Given the description of an element on the screen output the (x, y) to click on. 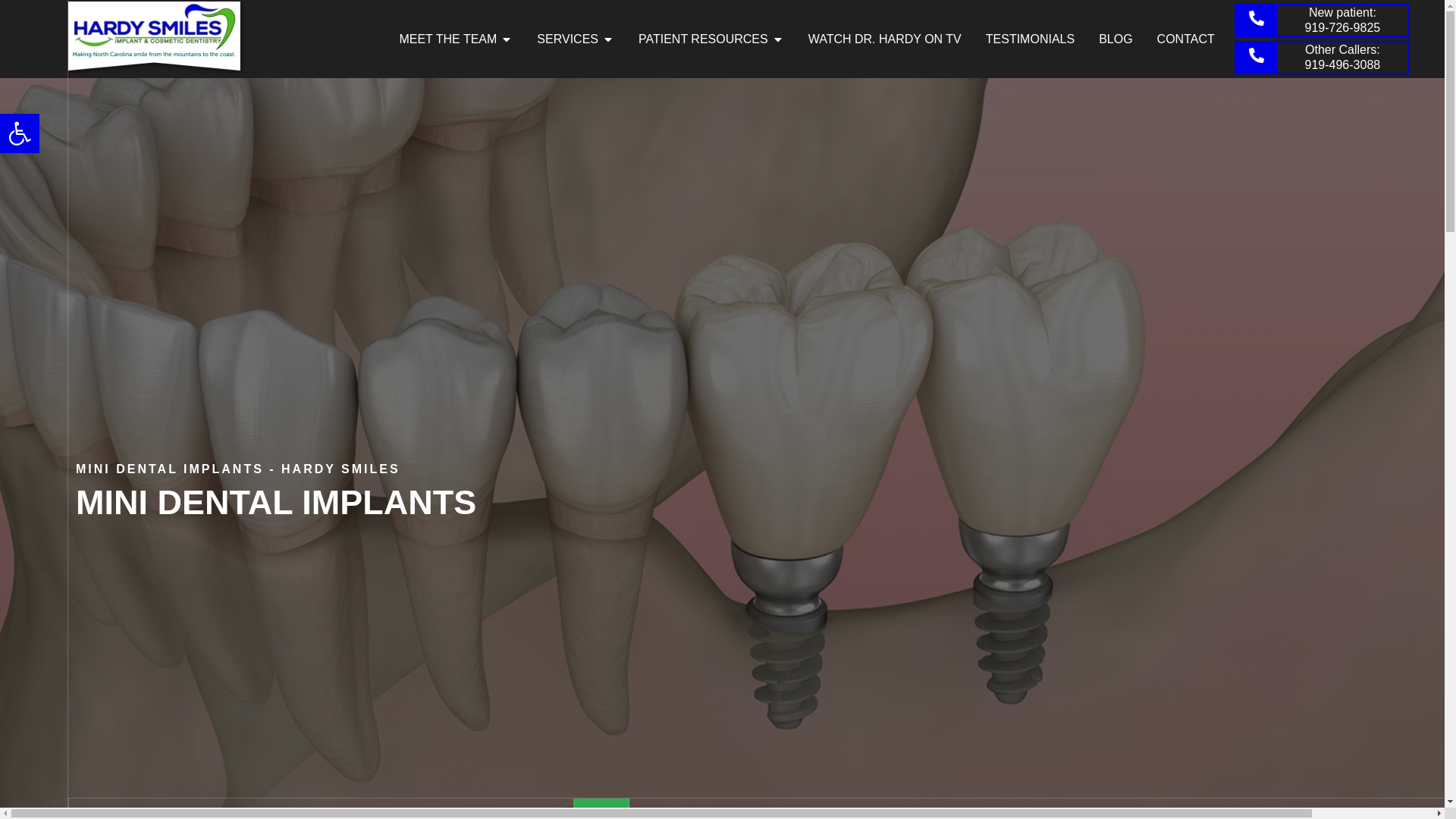
Accessibility Tools (19, 133)
Accessibility Tools (19, 133)
